Given the description of an element on the screen output the (x, y) to click on. 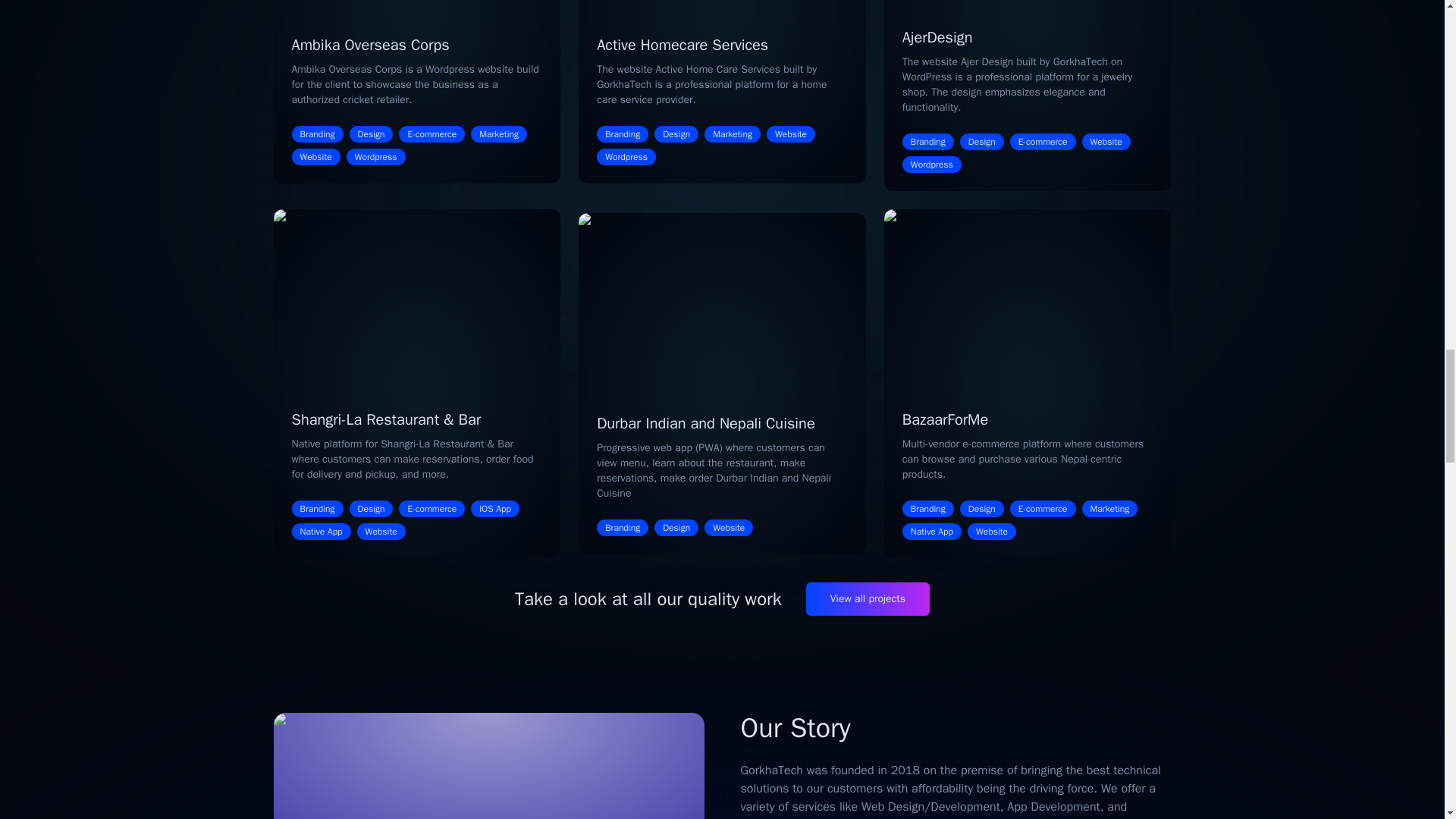
Durbar Indian and Nepali Cuisine (705, 423)
View all projects (868, 598)
Active Homecare Services (682, 45)
AjerDesign (937, 36)
Ambika Overseas Corps (369, 45)
BazaarForMe (945, 419)
